Given the description of an element on the screen output the (x, y) to click on. 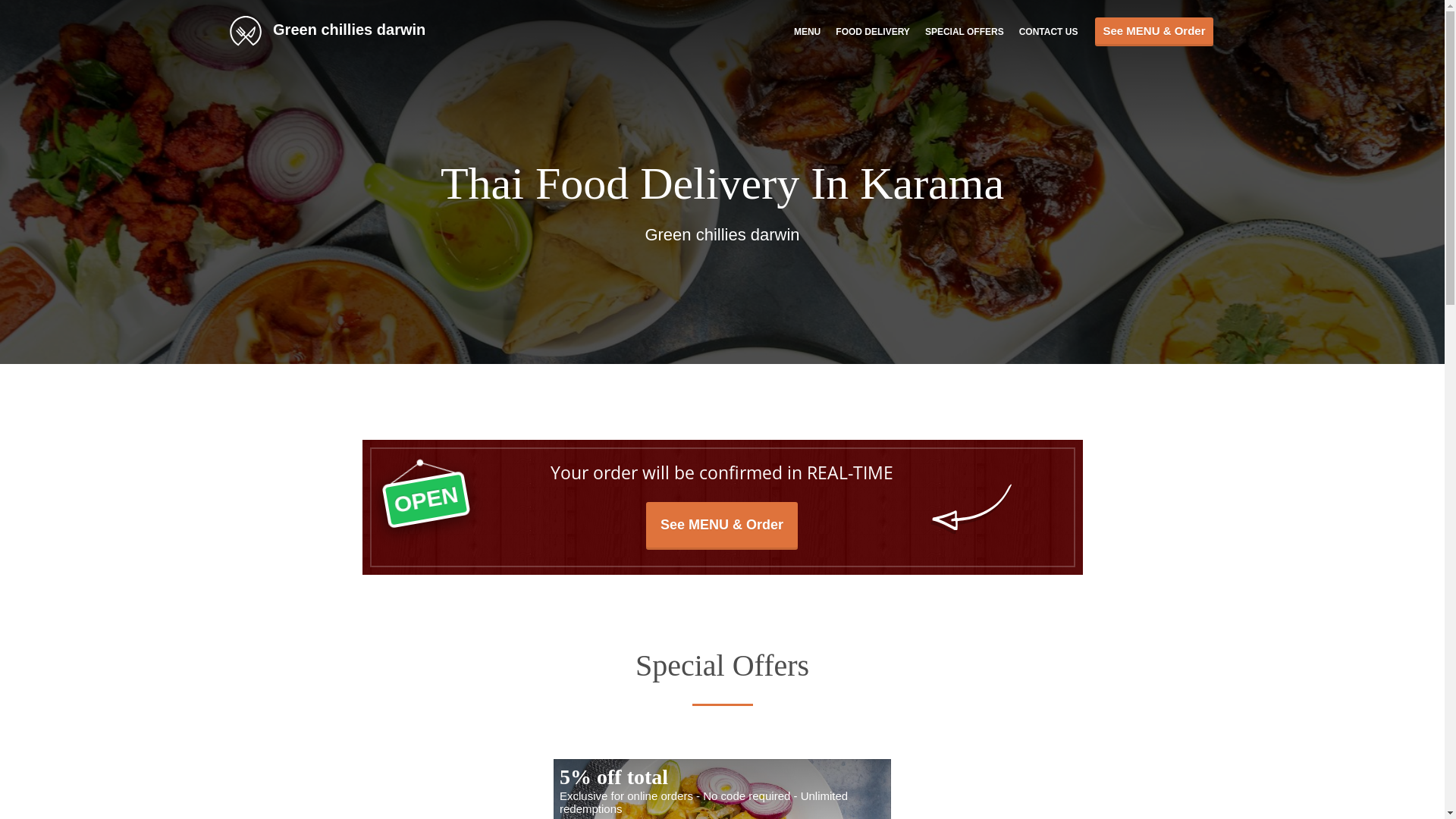
 Green chillies darwin Element type: text (334, 30)
CONTACT US Element type: text (1048, 30)
MENU Element type: text (806, 30)
FOOD DELIVERY Element type: text (872, 30)
SPECIAL OFFERS Element type: text (964, 30)
